Given the description of an element on the screen output the (x, y) to click on. 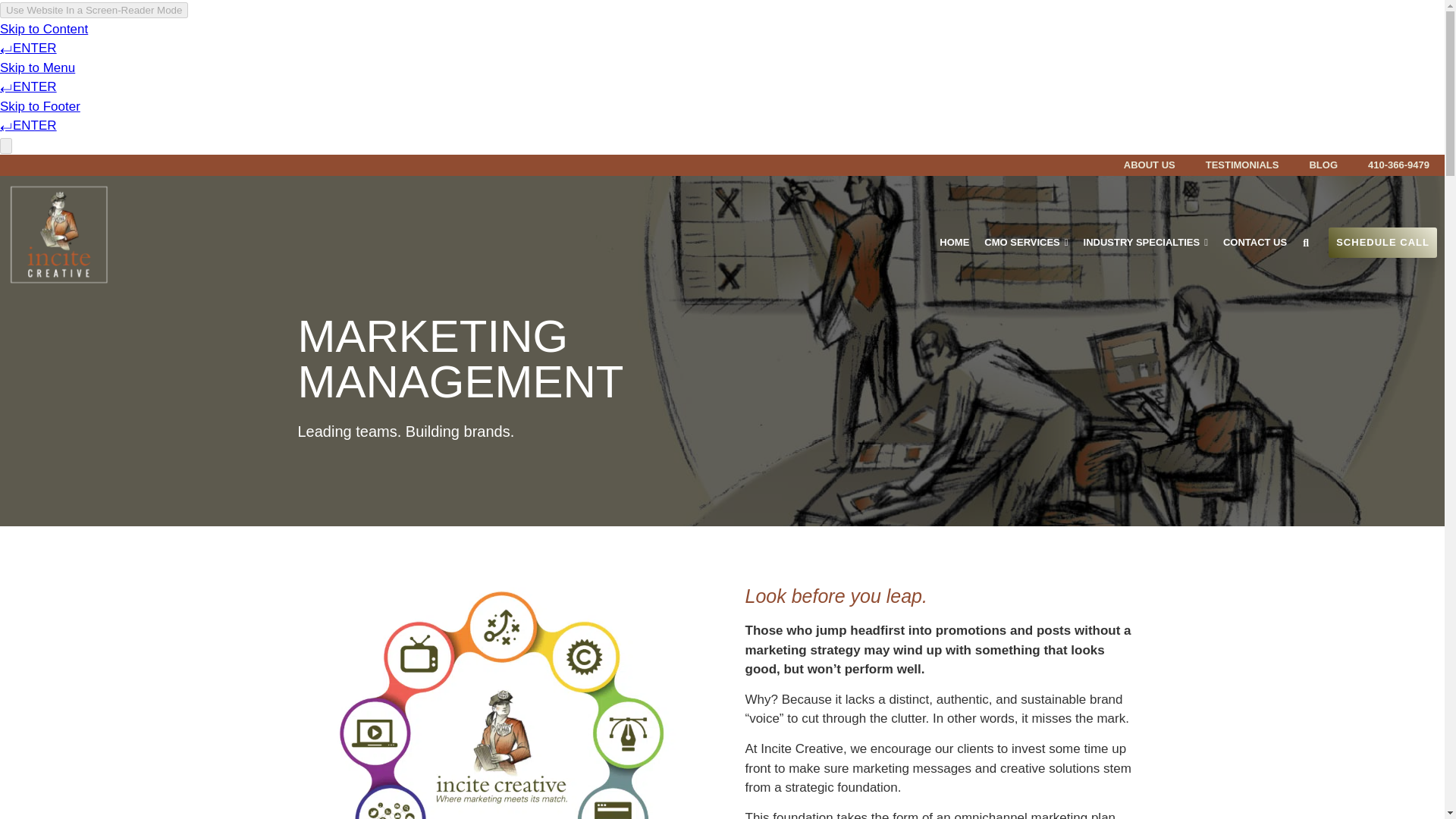
HOME (953, 242)
CONTACT US (1254, 242)
CMO SERVICES (1025, 242)
ABOUT US (1149, 165)
BLOG (1323, 165)
INDUSTRY SPECIALTIES (1145, 242)
TESTIMONIALS (1242, 165)
